Given the description of an element on the screen output the (x, y) to click on. 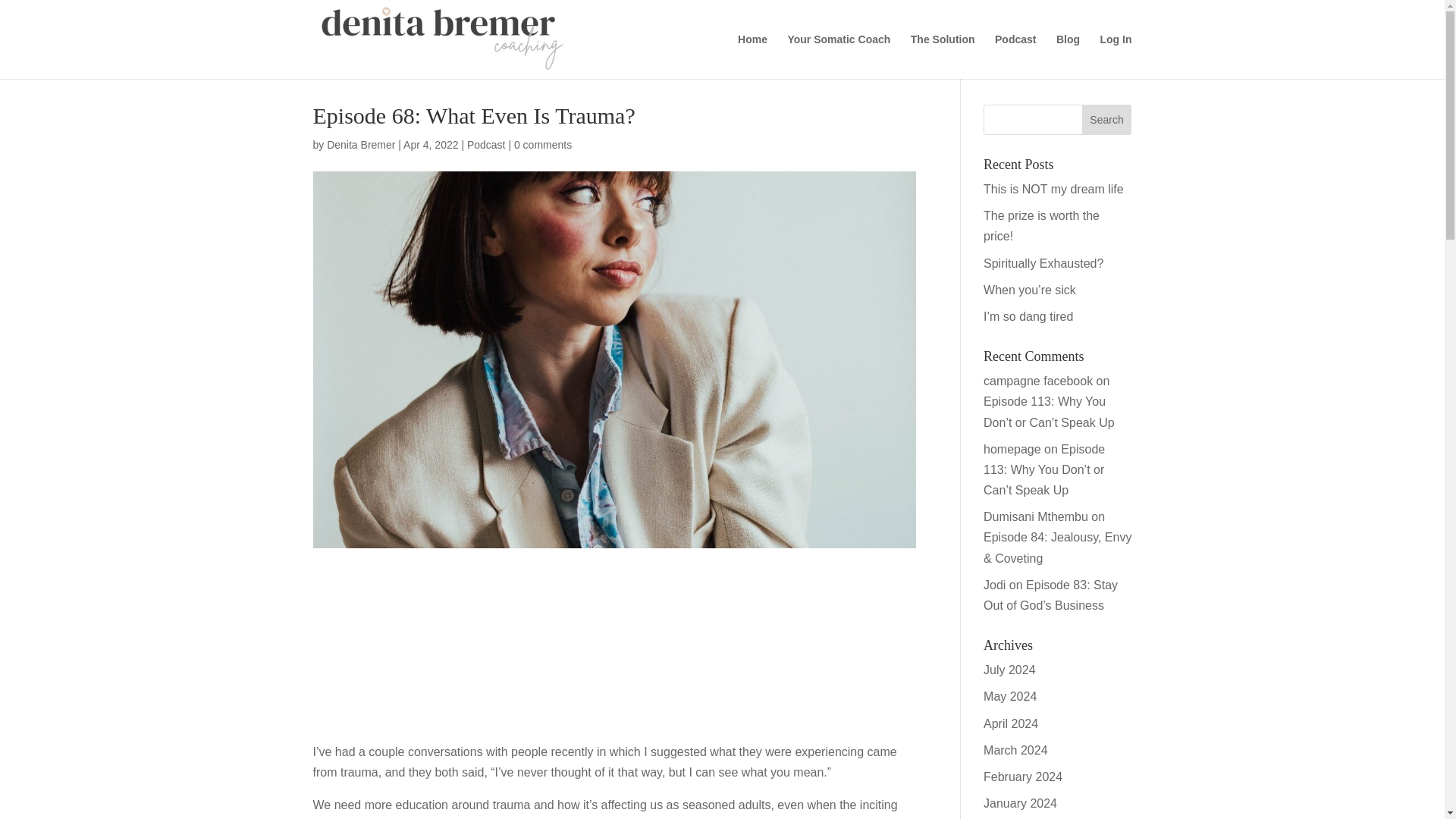
May 2024 (1010, 696)
April 2024 (1011, 723)
homepage (1012, 449)
Podcast (486, 144)
Your Somatic Coach (838, 56)
Spiritually Exhausted? (1043, 263)
Denita Bremer (360, 144)
Search (1106, 119)
Podcast (1014, 56)
March 2024 (1016, 749)
